Given the description of an element on the screen output the (x, y) to click on. 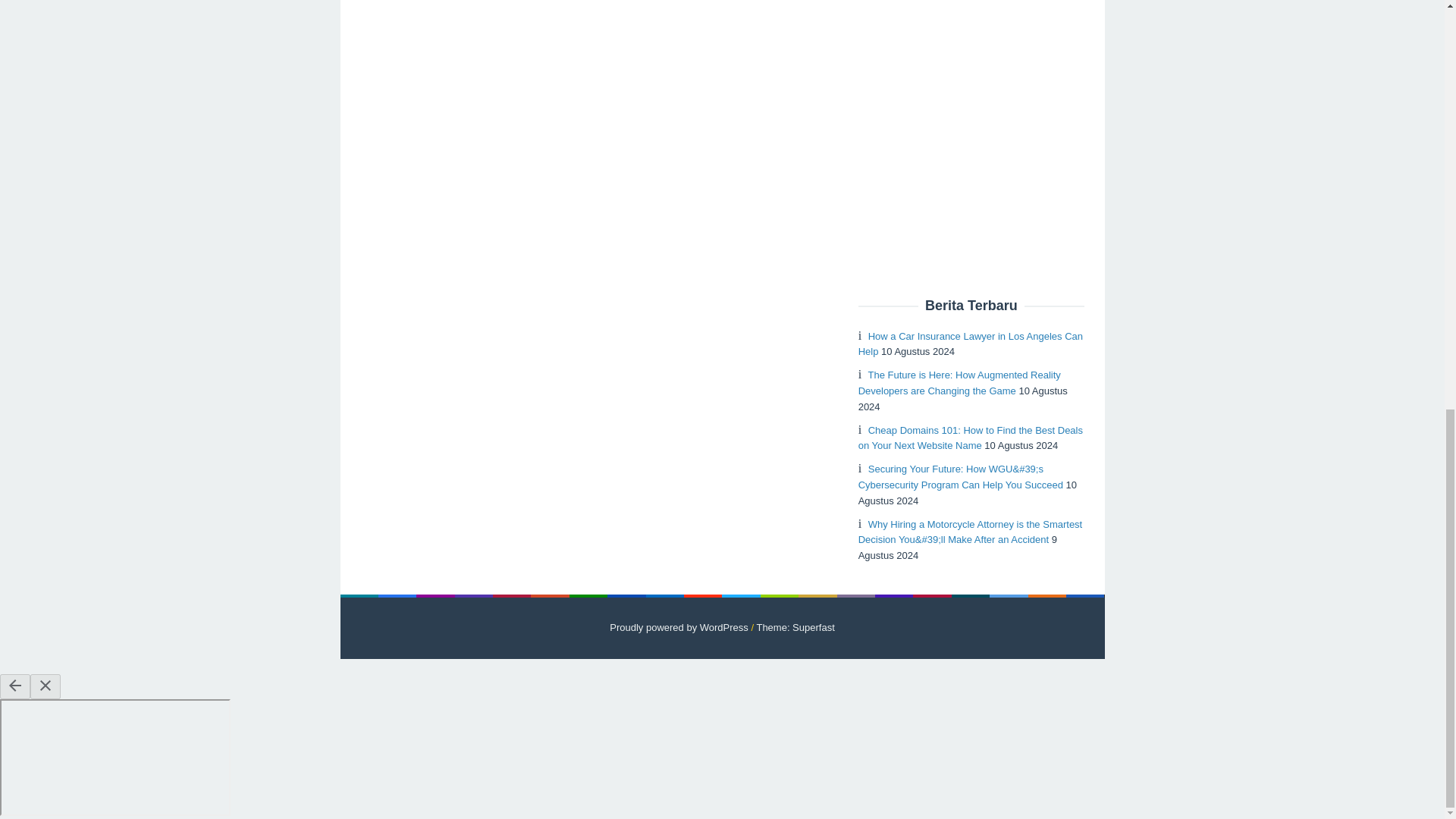
Theme: Superfast (794, 627)
How a Car Insurance Lawyer in Los Angeles Can Help (971, 343)
Theme: Superfast (794, 627)
Proudly powered by WordPress (679, 627)
Proudly powered by WordPress (679, 627)
